Given the description of an element on the screen output the (x, y) to click on. 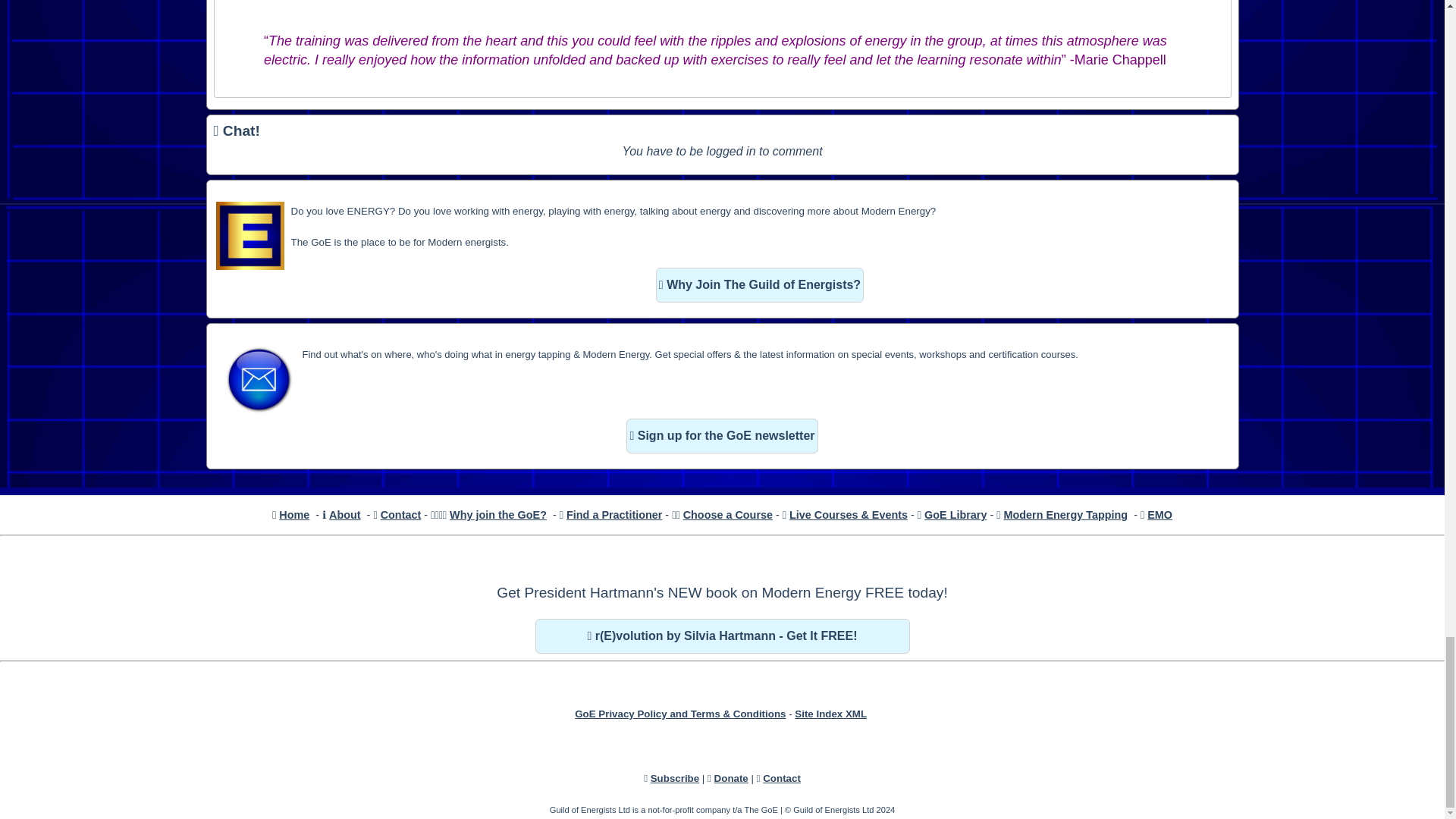
E is for ENERGY! (249, 235)
GoE Newsletter (258, 379)
Back to GoE Home (293, 514)
Contact GoE Head Office (401, 514)
About The Guild of Energists (345, 514)
GoE Newsletter (721, 435)
